Given the description of an element on the screen output the (x, y) to click on. 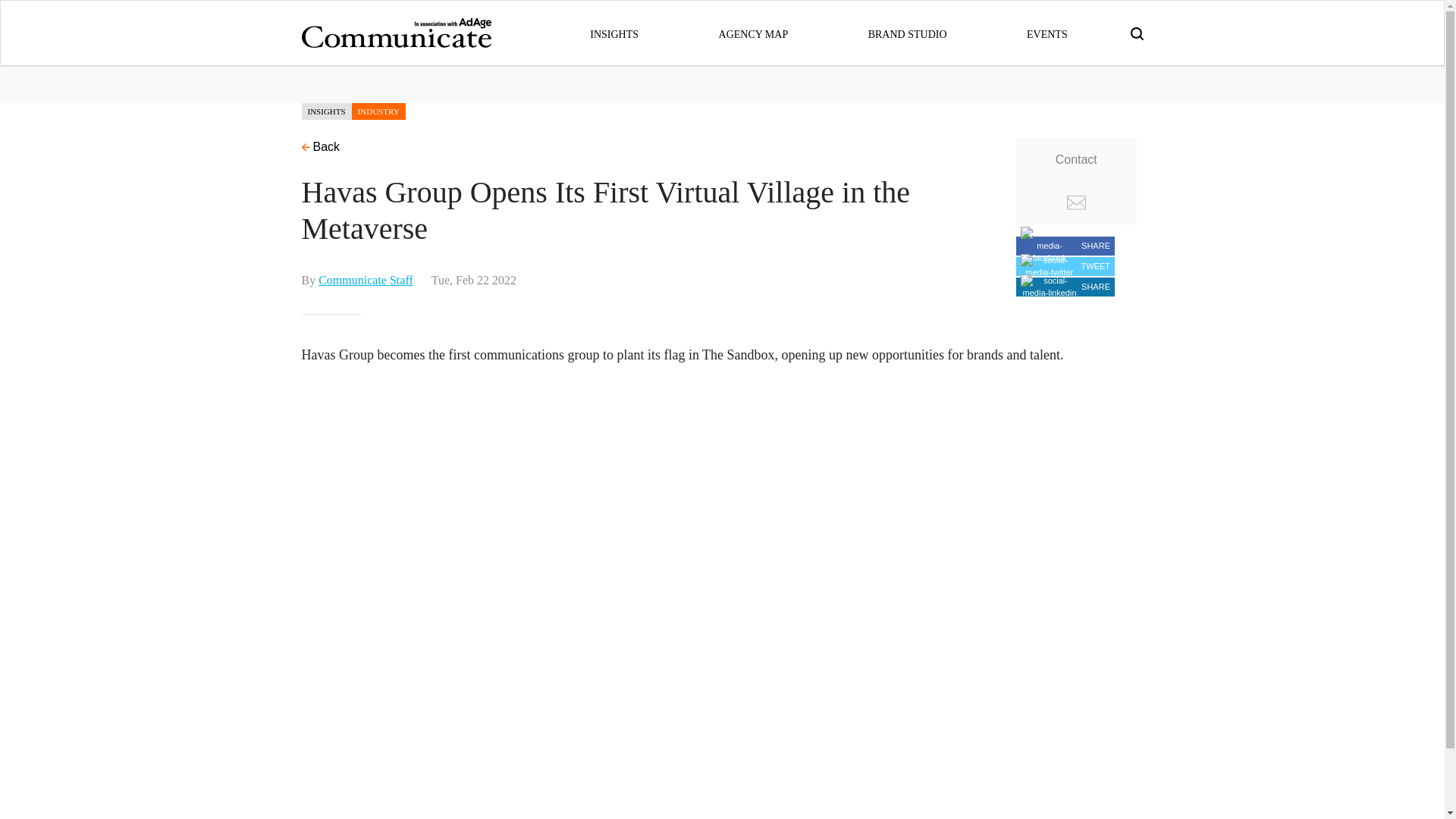
EVENTS (1046, 34)
AGENCY MAP (754, 34)
Contact (1076, 181)
BRAND STUDIO (907, 34)
INSIGHTS (614, 34)
Communicate Staff (365, 278)
Back (320, 145)
SHARE (1065, 245)
SHARE (1065, 286)
TWEET (1065, 265)
